Given the description of an element on the screen output the (x, y) to click on. 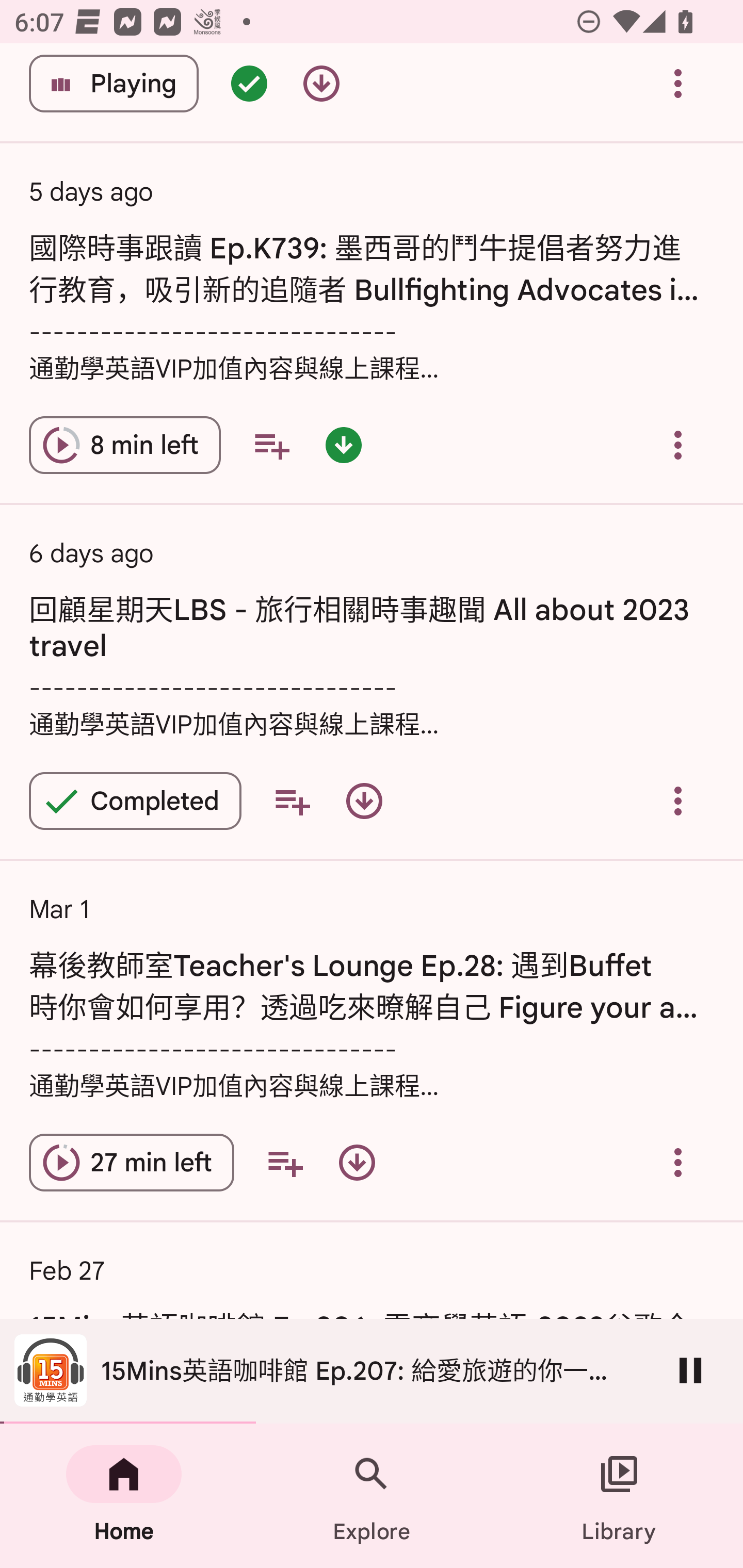
Episode queued - double tap for options (249, 85)
Download episode (321, 85)
Overflow menu (677, 85)
Add to your queue (271, 445)
Episode downloaded - double tap for options (343, 445)
Overflow menu (677, 445)
Add to your queue (291, 800)
Download episode (364, 800)
Overflow menu (677, 800)
Add to your queue (284, 1162)
Download episode (356, 1162)
Overflow menu (677, 1162)
Pause (690, 1370)
Explore (371, 1495)
Library (619, 1495)
